Given the description of an element on the screen output the (x, y) to click on. 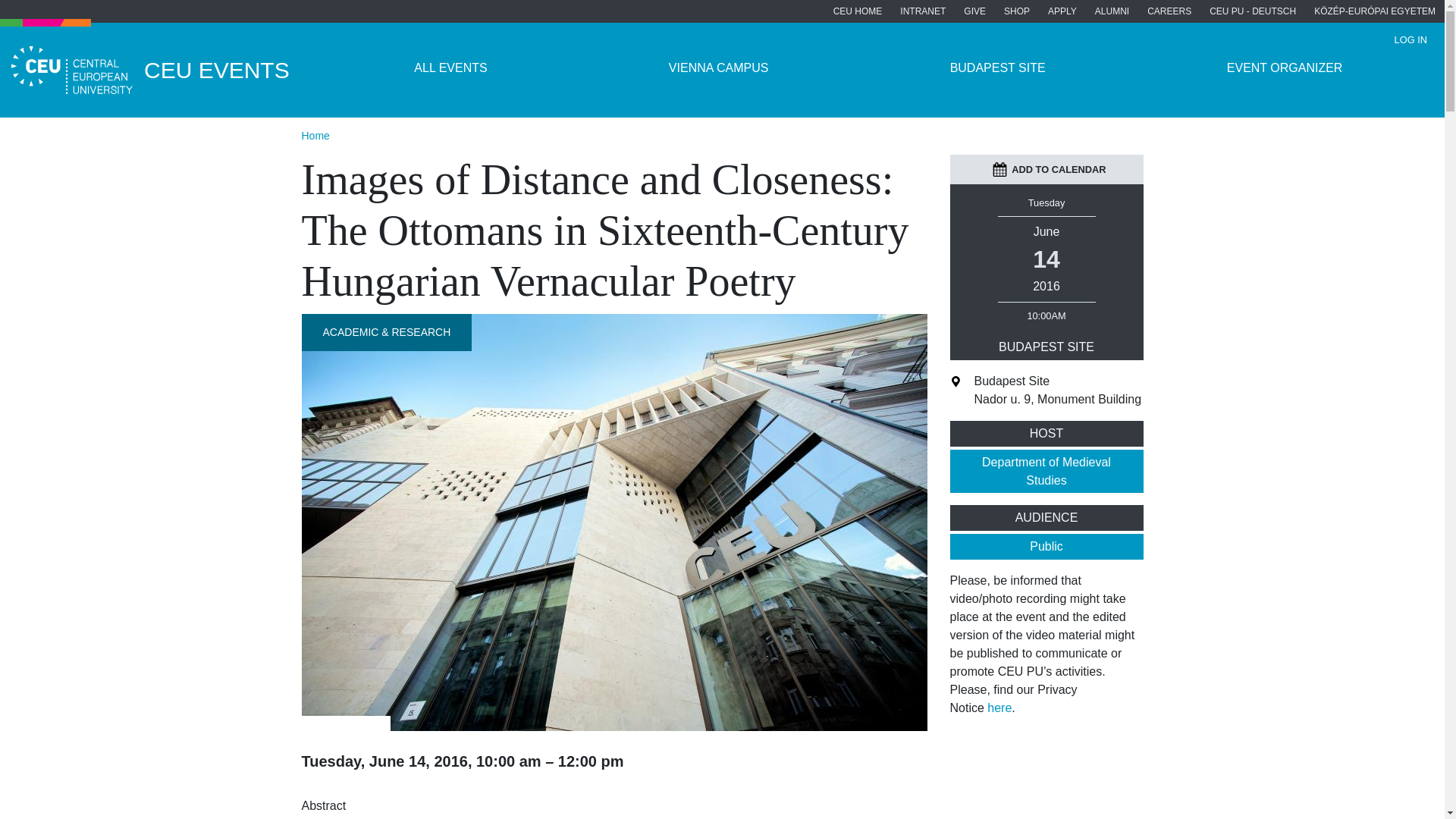
Home (315, 135)
BUDAPEST SITE (997, 68)
ALUMNI (1112, 11)
LOG IN (1410, 39)
CEU PU - DEUTSCH (1251, 11)
GIVE (974, 11)
Department of Medieval Studies (1045, 471)
here (999, 707)
CEU EVENTS (162, 69)
CAREERS (1168, 11)
ALL EVENTS (450, 68)
EVENT ORGANIZER (1283, 68)
ADD TO CALENDAR (1048, 169)
